Given the description of an element on the screen output the (x, y) to click on. 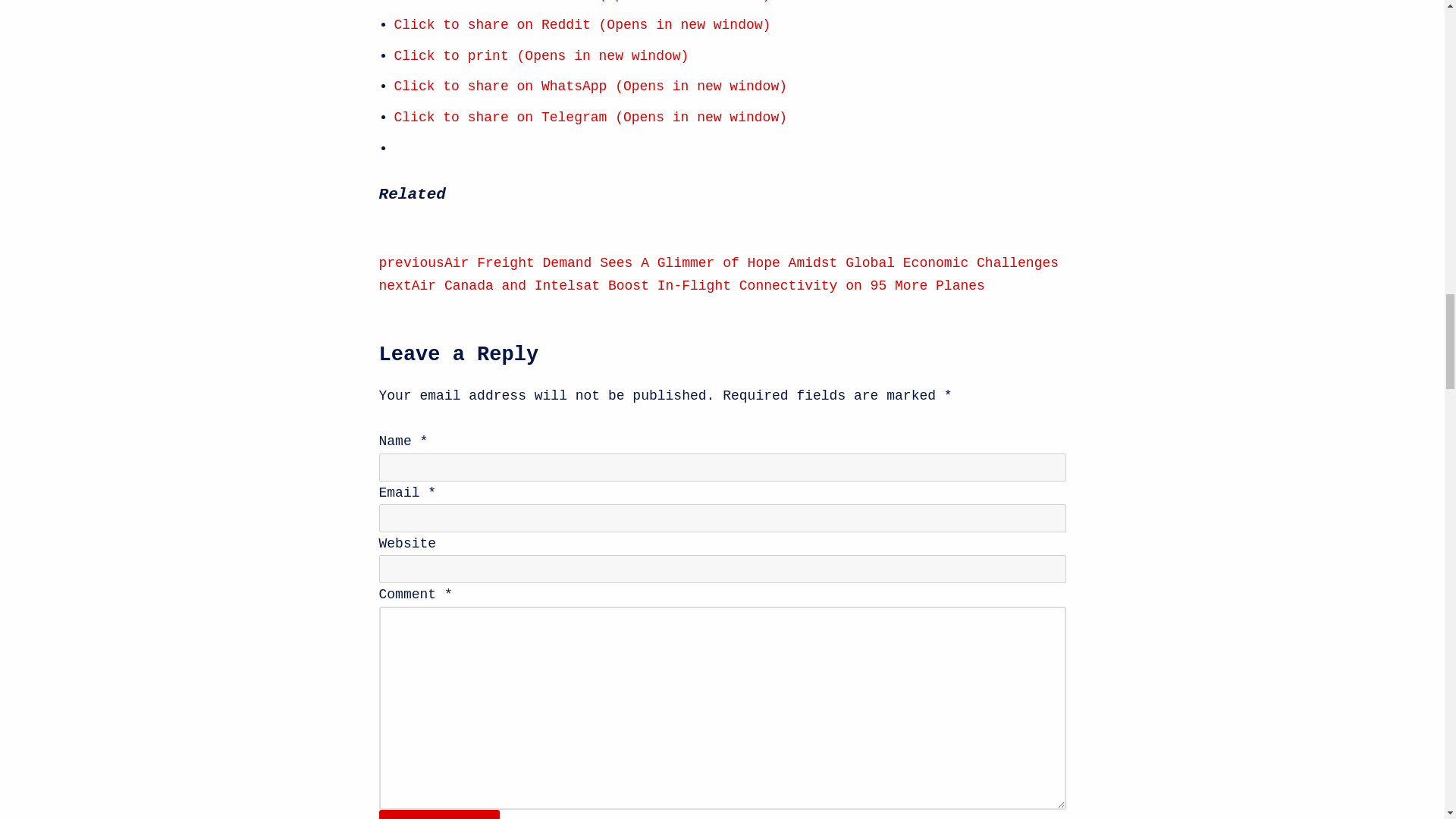
Post Comment (439, 814)
Click to share on Reddit (582, 24)
